Given the description of an element on the screen output the (x, y) to click on. 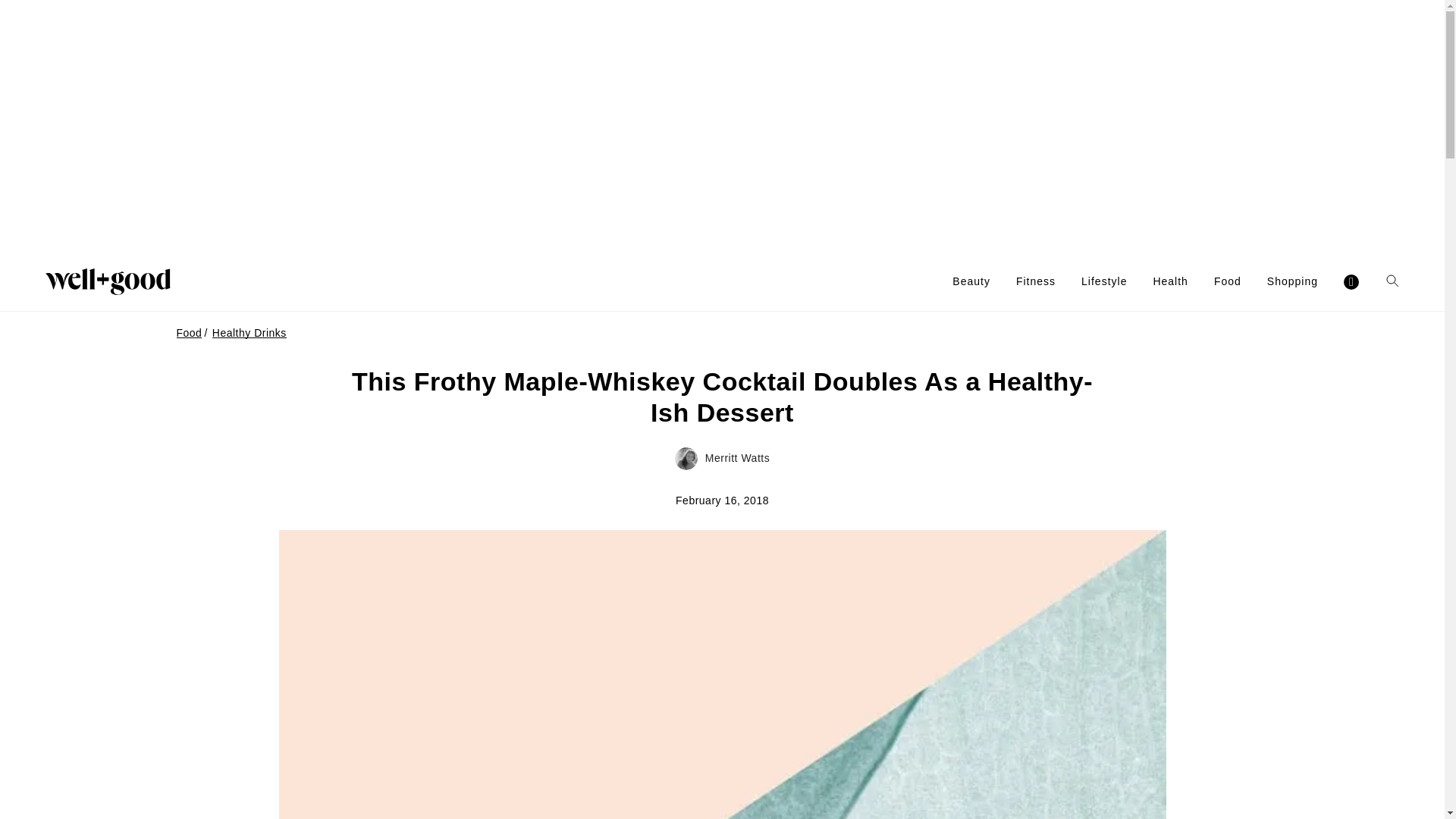
Beauty (971, 281)
Food (1227, 281)
Fitness (1035, 281)
Lifestyle (1103, 281)
Health (1170, 281)
Shopping (1291, 281)
